Given the description of an element on the screen output the (x, y) to click on. 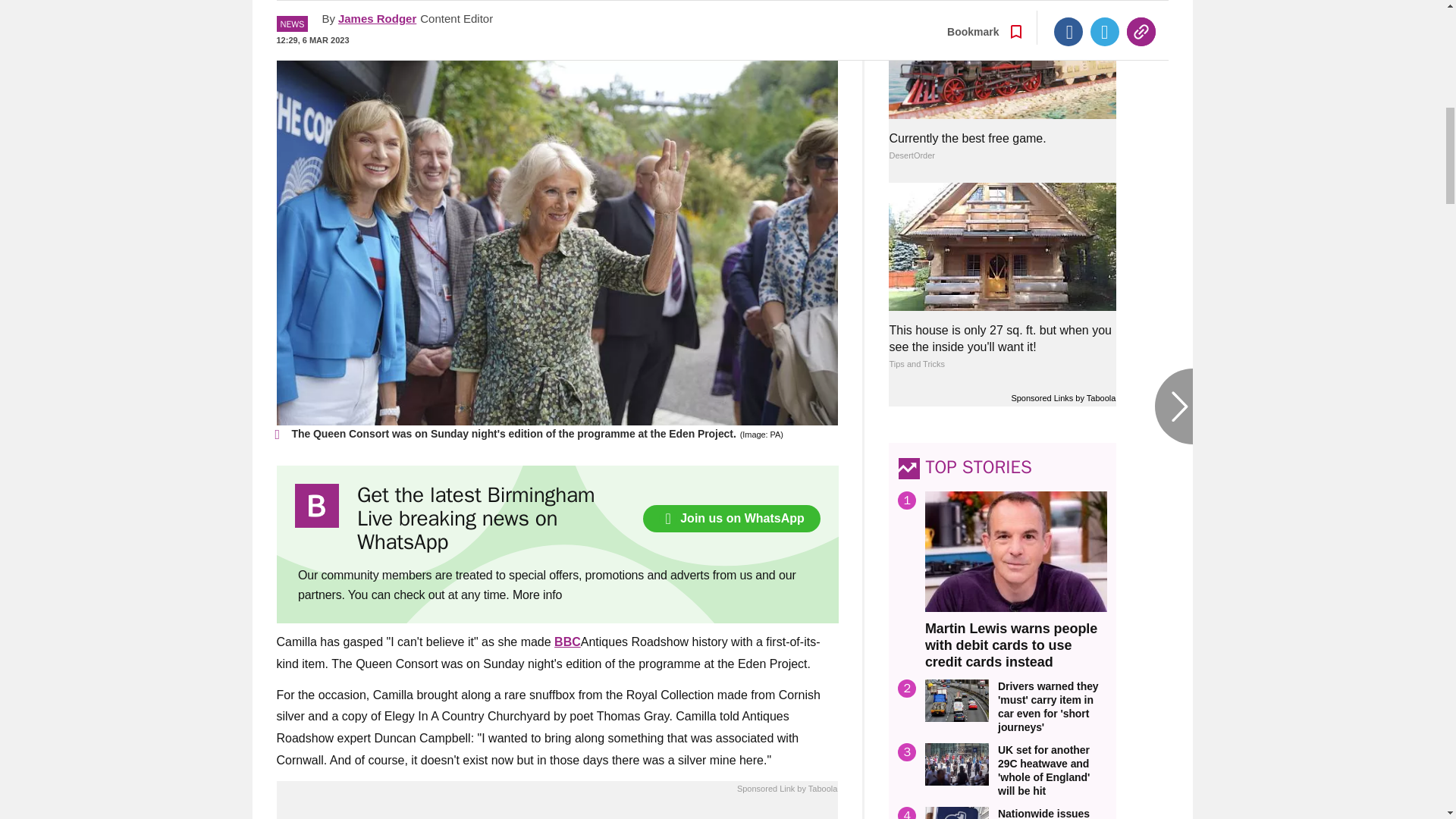
Go (730, 17)
